Given the description of an element on the screen output the (x, y) to click on. 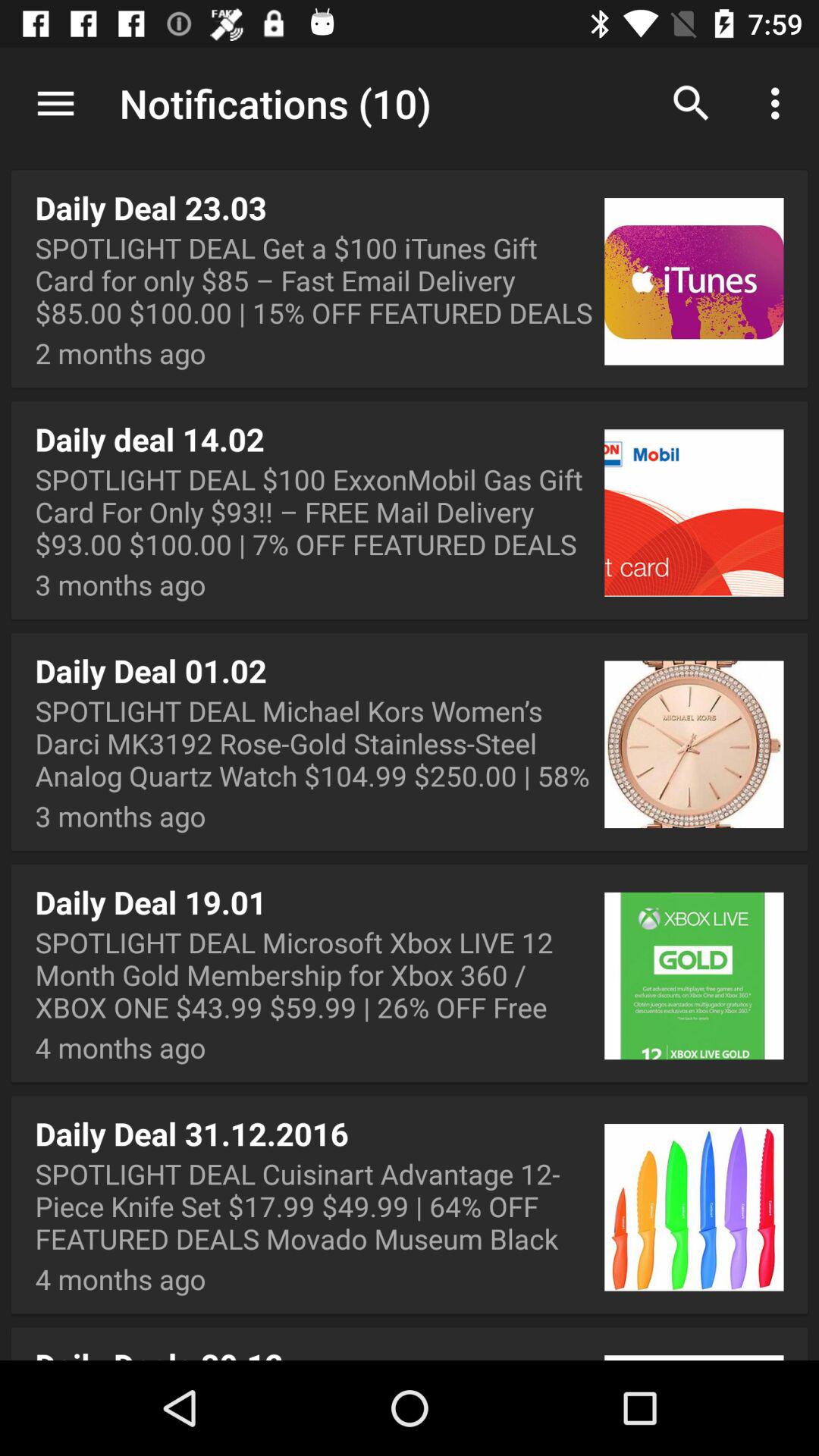
tap the app next to notifications (10) app (691, 103)
